Given the description of an element on the screen output the (x, y) to click on. 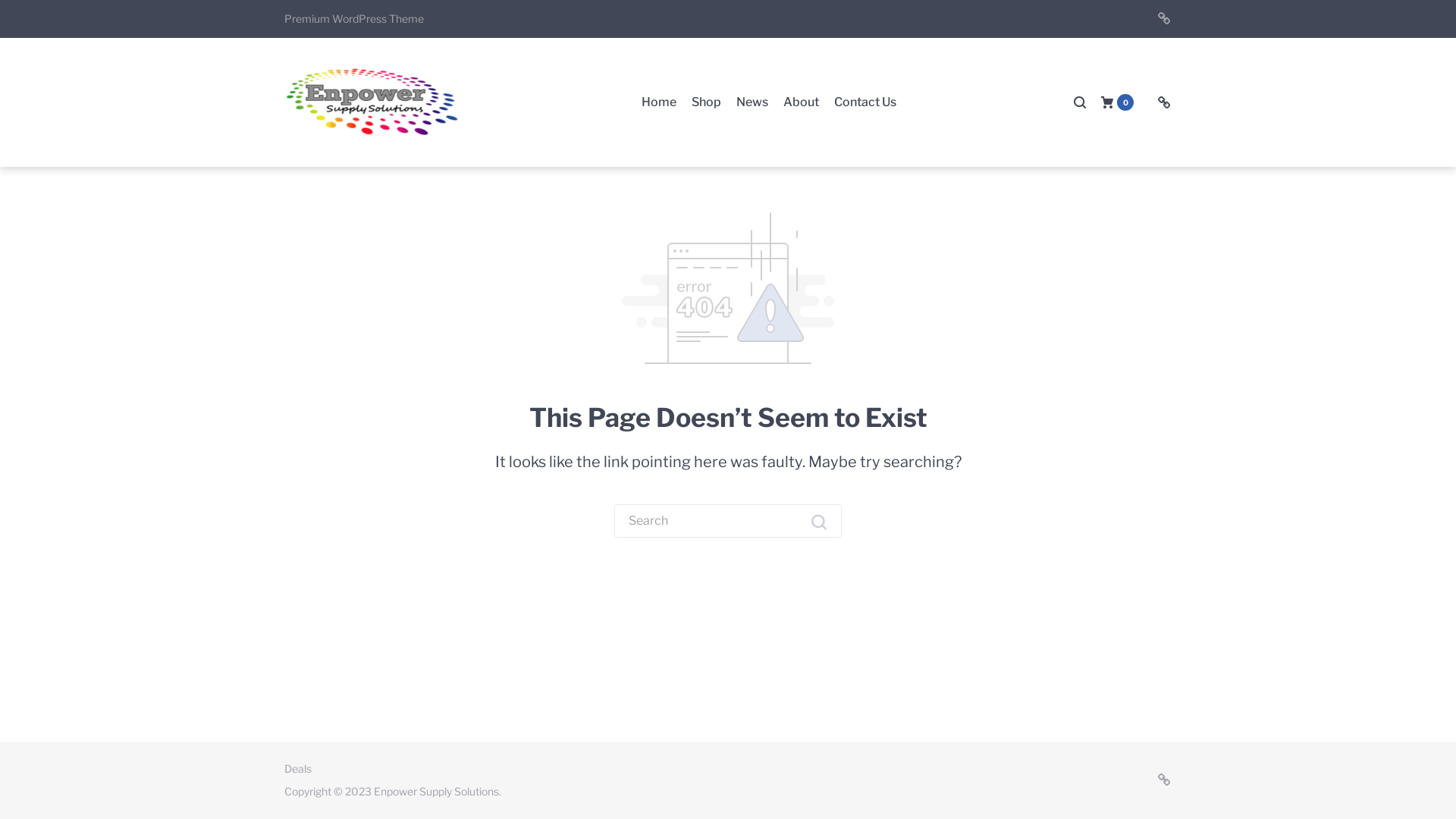
News Element type: text (752, 102)
About Element type: text (801, 102)
Deals Element type: text (1163, 779)
0 Element type: text (1117, 101)
Deals Element type: text (297, 768)
Deals Element type: text (1163, 18)
Deals Element type: text (1163, 102)
Home Element type: text (658, 102)
Contact Us Element type: text (865, 102)
Shop Element type: text (706, 102)
